Given the description of an element on the screen output the (x, y) to click on. 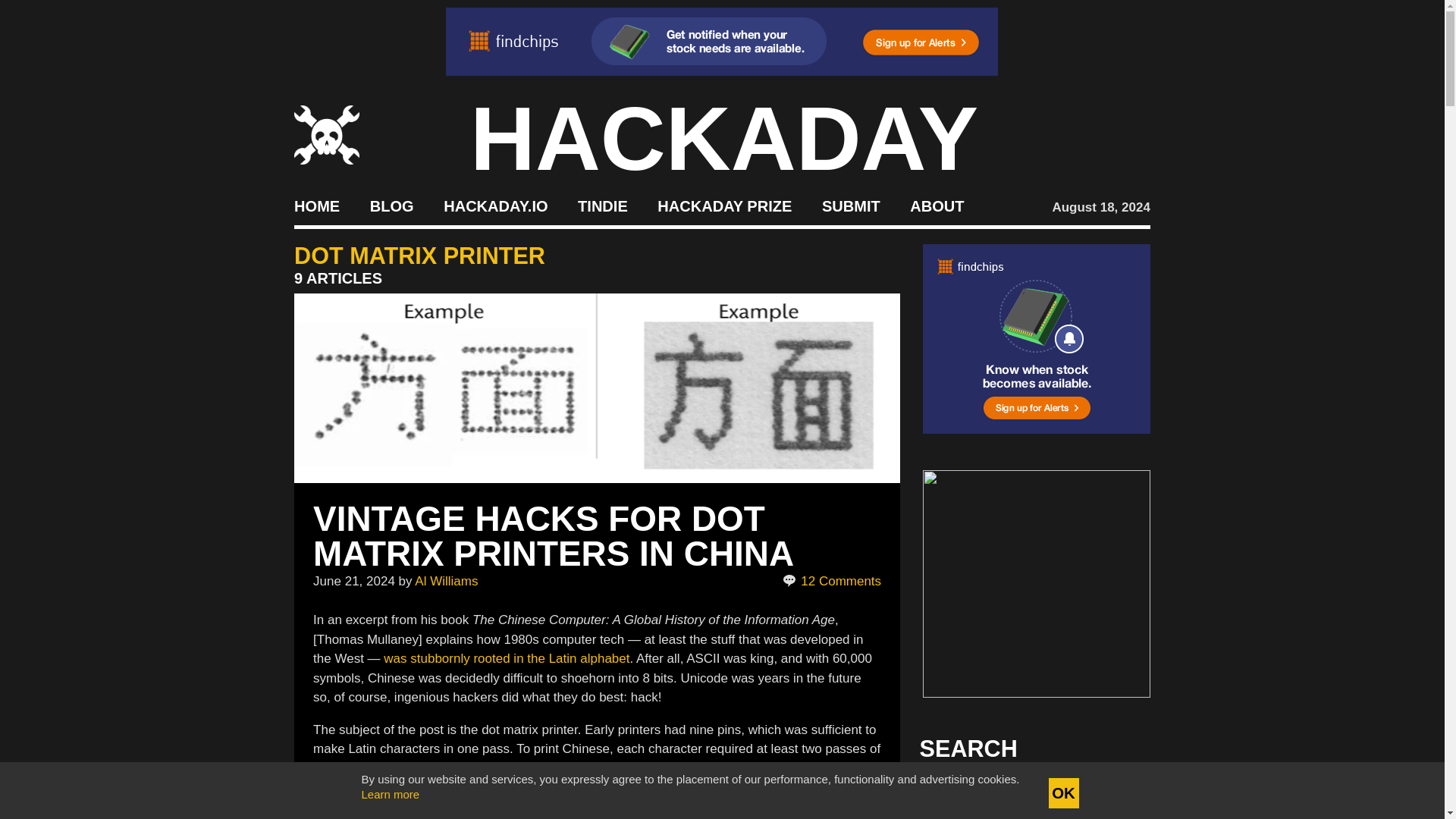
was stubbornly rooted in the Latin alphabet (506, 658)
HACKADAY (724, 138)
SUBMIT (851, 205)
ABOUT (936, 205)
TINDIE (602, 205)
Search (1115, 792)
Search (1115, 792)
Al Williams (445, 581)
Posts by Al Williams (445, 581)
VINTAGE HACKS FOR DOT MATRIX PRINTERS IN CHINA (553, 535)
